Given the description of an element on the screen output the (x, y) to click on. 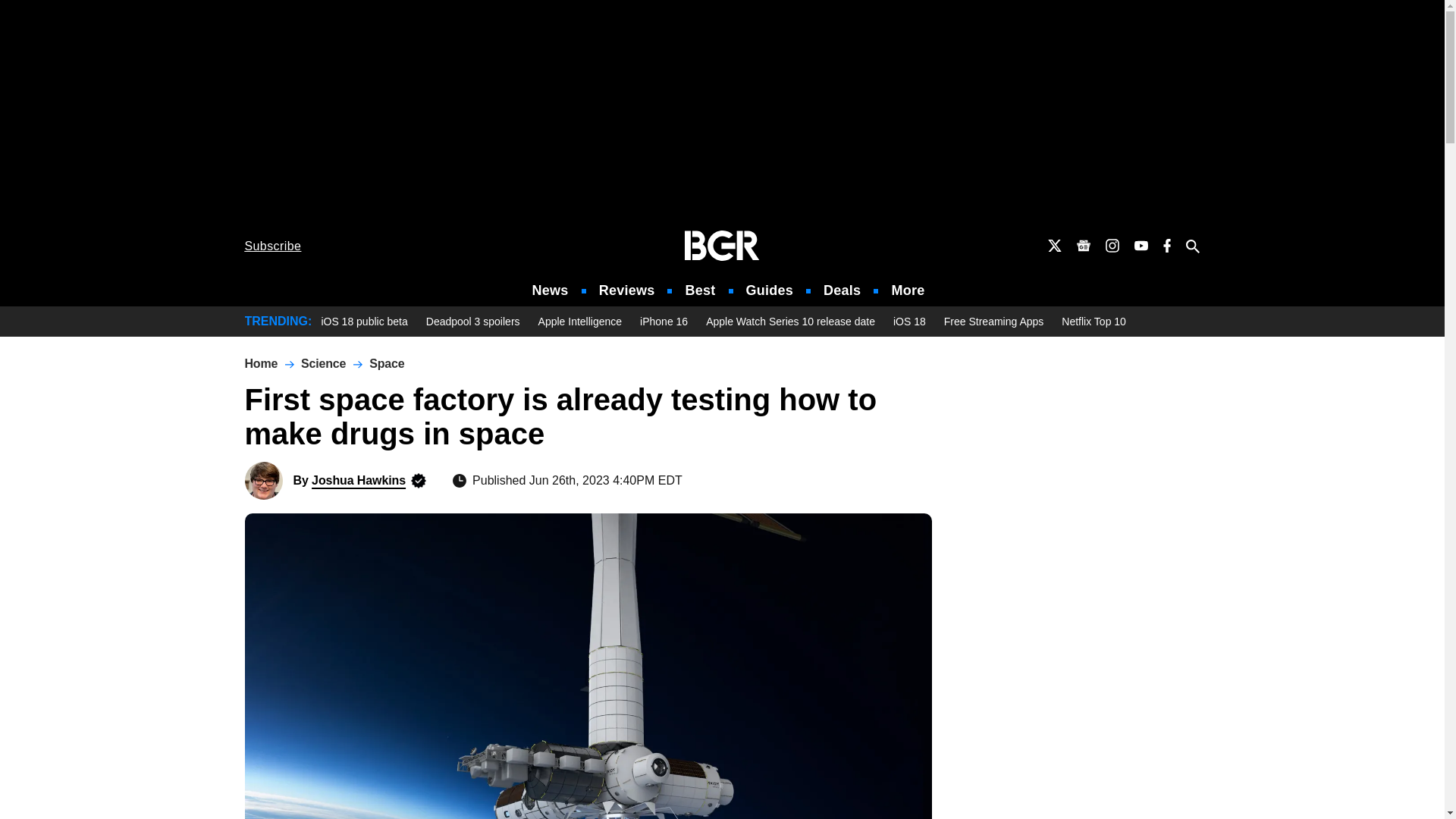
Guides (769, 290)
Subscribe (272, 245)
Reviews (626, 290)
Posts by Joshua Hawkins (358, 480)
Best (699, 290)
More (907, 290)
News (550, 290)
Deals (842, 290)
